Given the description of an element on the screen output the (x, y) to click on. 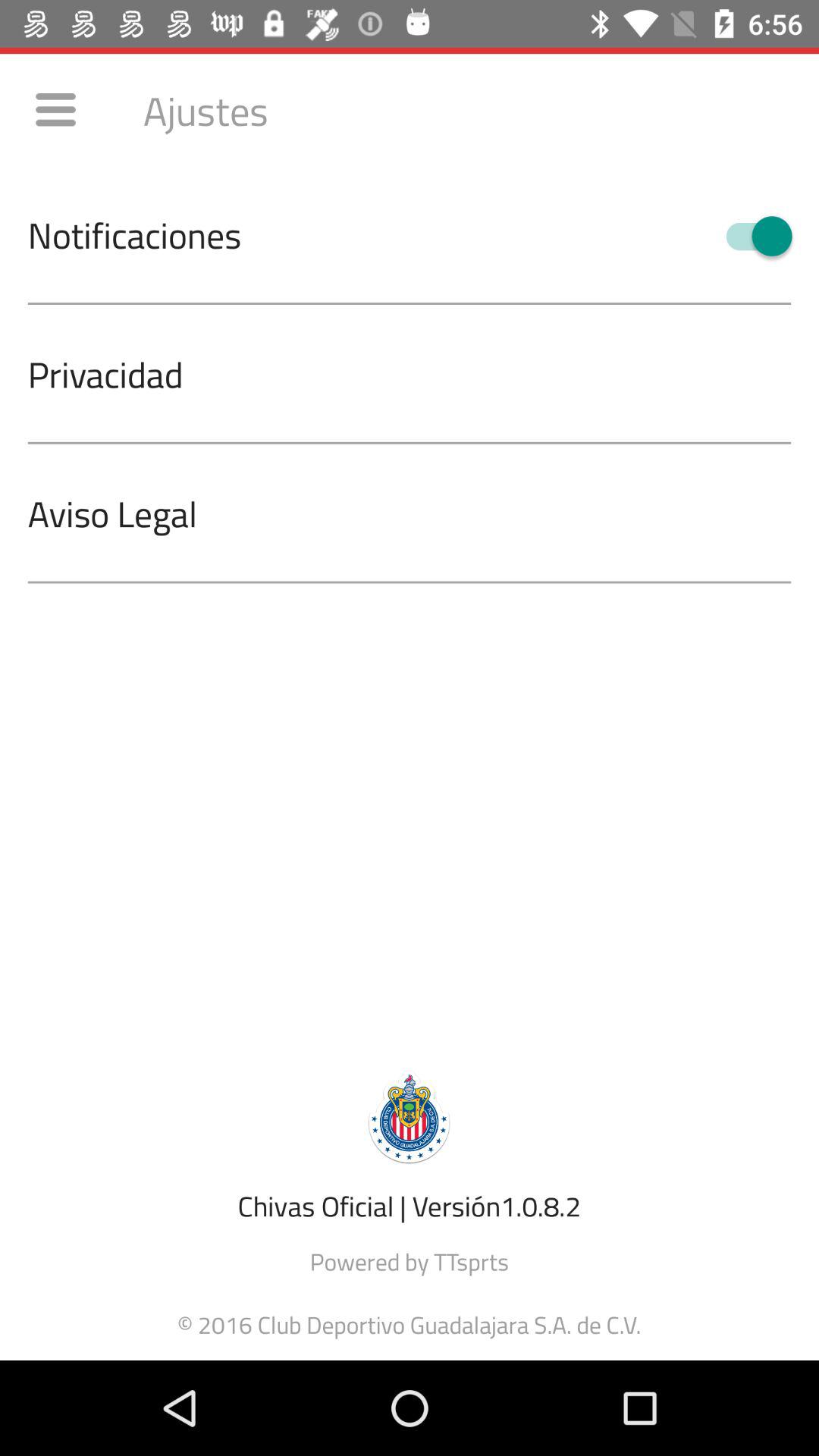
open the icon below the ajustes icon (751, 236)
